Given the description of an element on the screen output the (x, y) to click on. 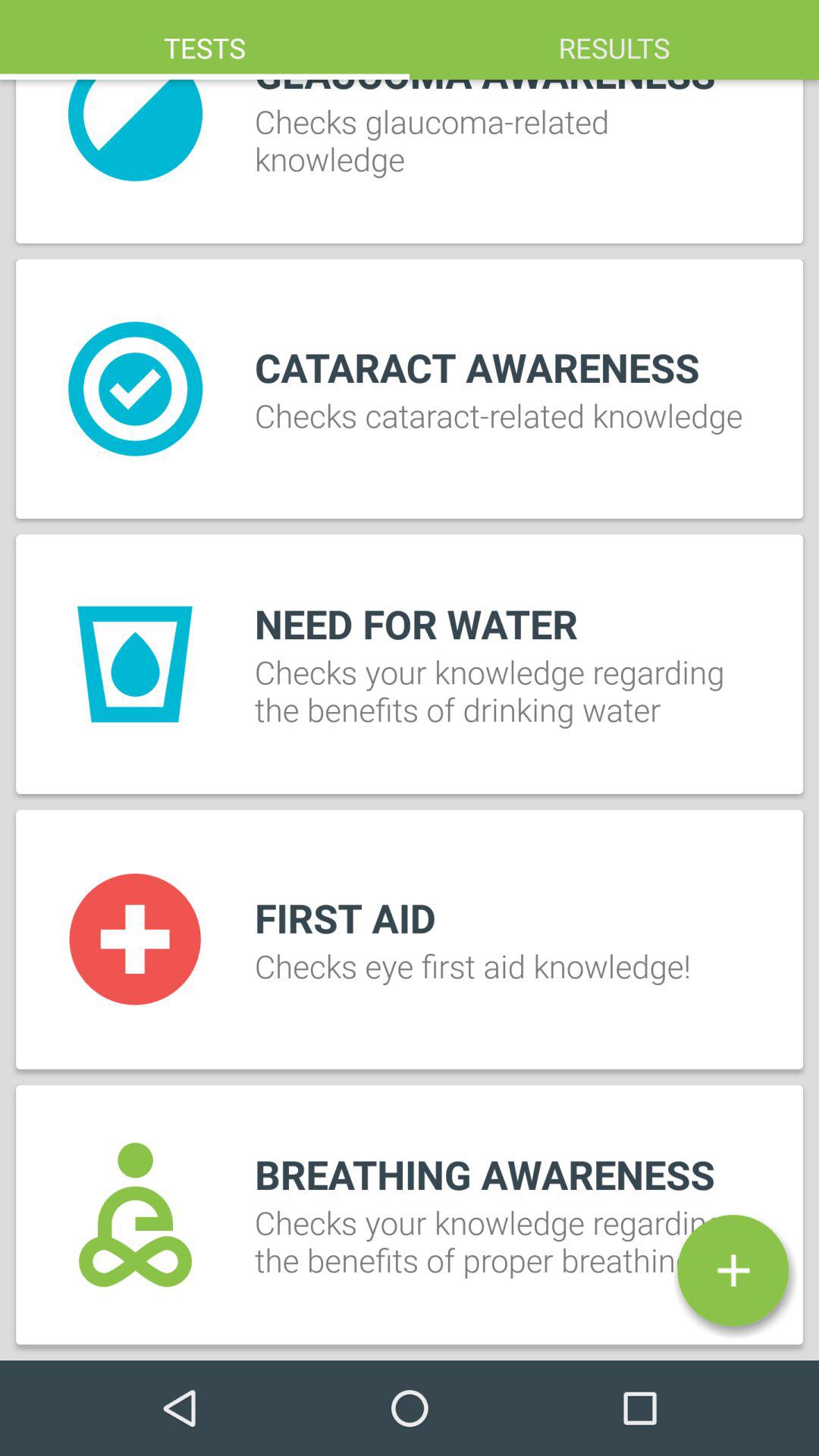
jump to results (614, 39)
